Given the description of an element on the screen output the (x, y) to click on. 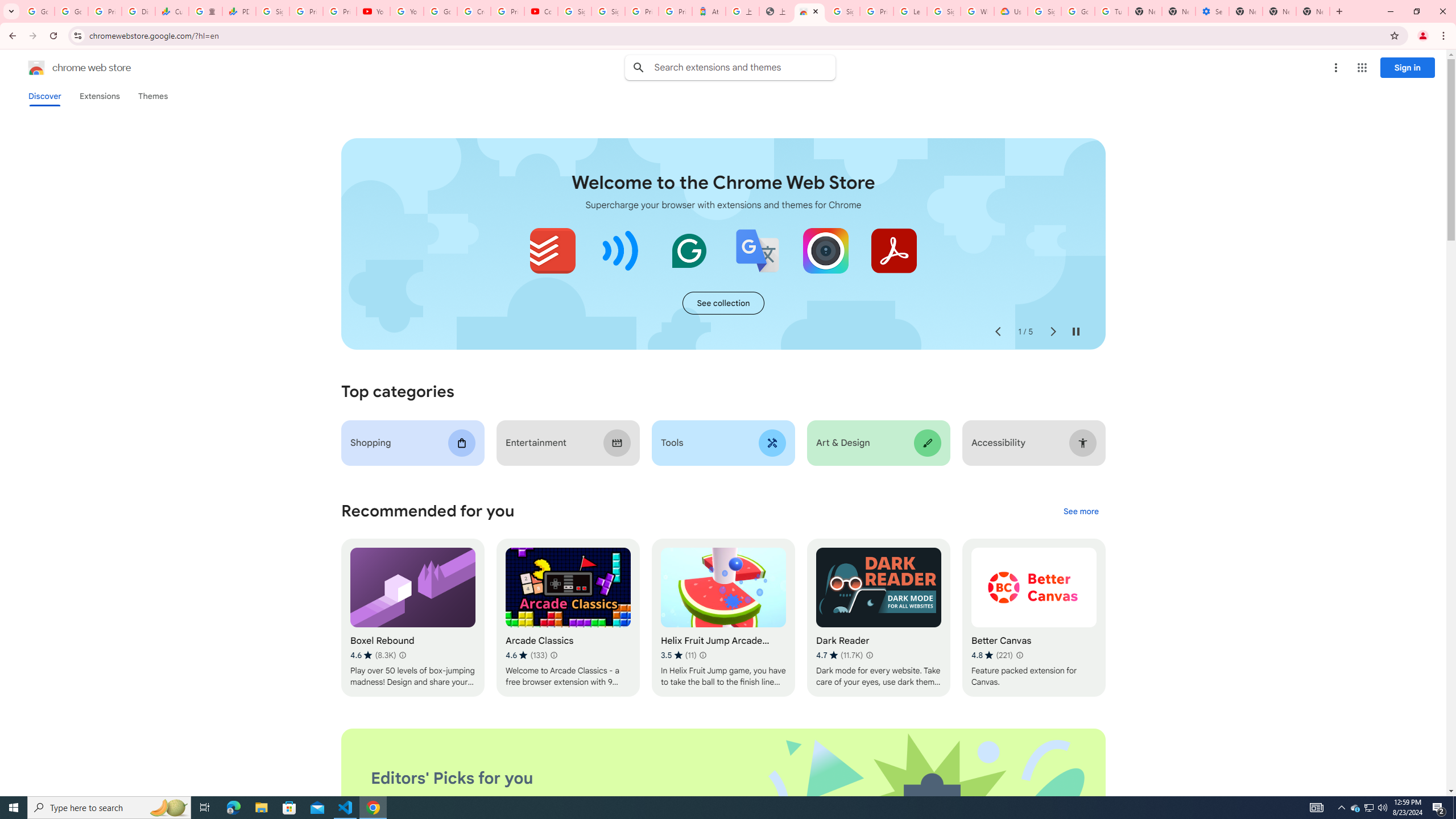
Learn more about results and reviews "Boxel Rebound" (402, 655)
Accessibility (1033, 443)
Google Account Help (441, 11)
Average rating 4.6 out of 5 stars. 8.3K ratings. (372, 655)
Todoist for Chrome (552, 250)
Dark Reader (878, 617)
Art & Design (878, 443)
Average rating 4.7 out of 5 stars. 11.7K ratings. (839, 655)
Currencies - Google Finance (171, 11)
